Given the description of an element on the screen output the (x, y) to click on. 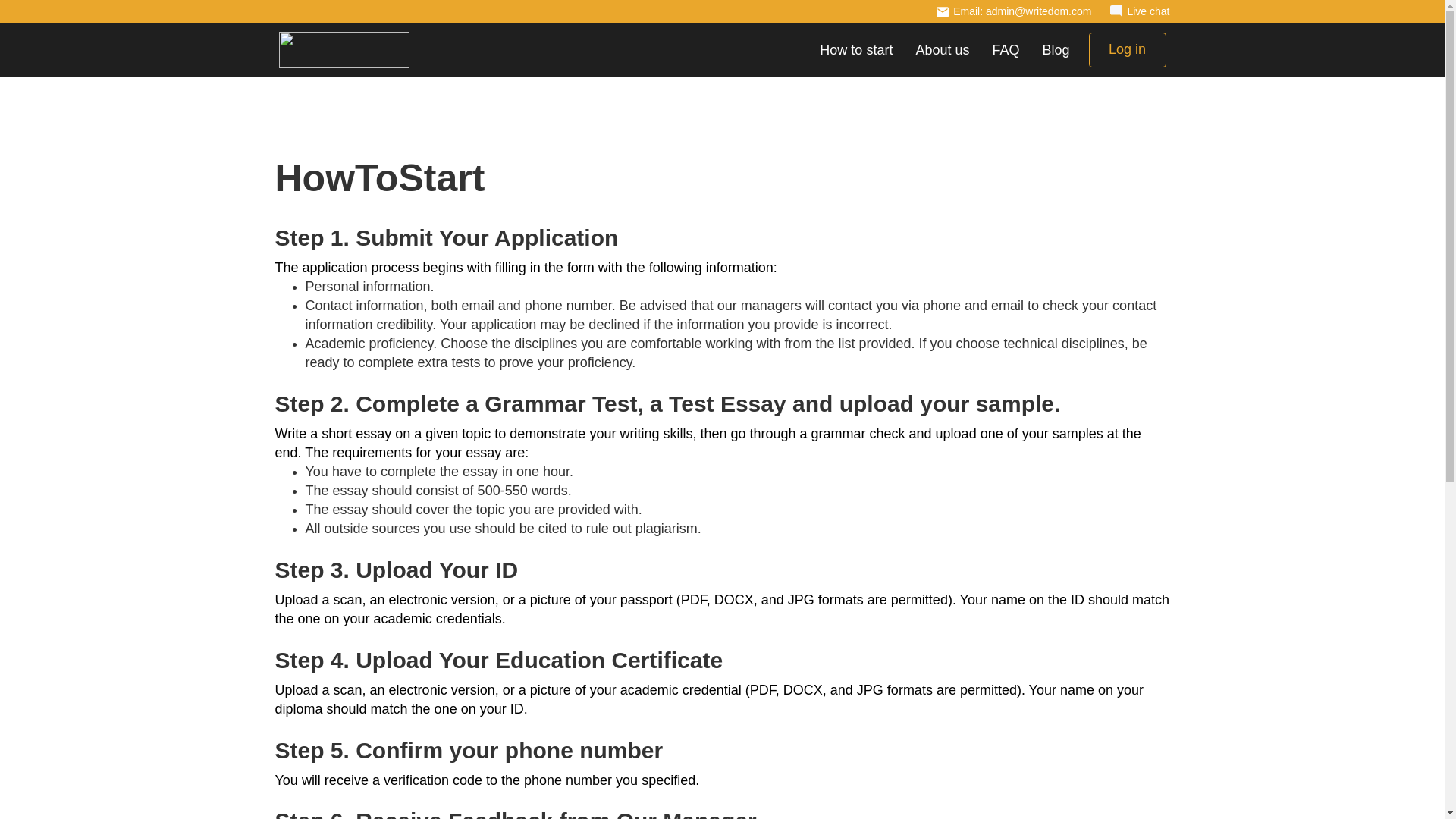
Live chat (1139, 11)
How to start (856, 49)
FAQ (1004, 49)
Blog (1055, 49)
Log in (1126, 49)
About us (941, 49)
